Given the description of an element on the screen output the (x, y) to click on. 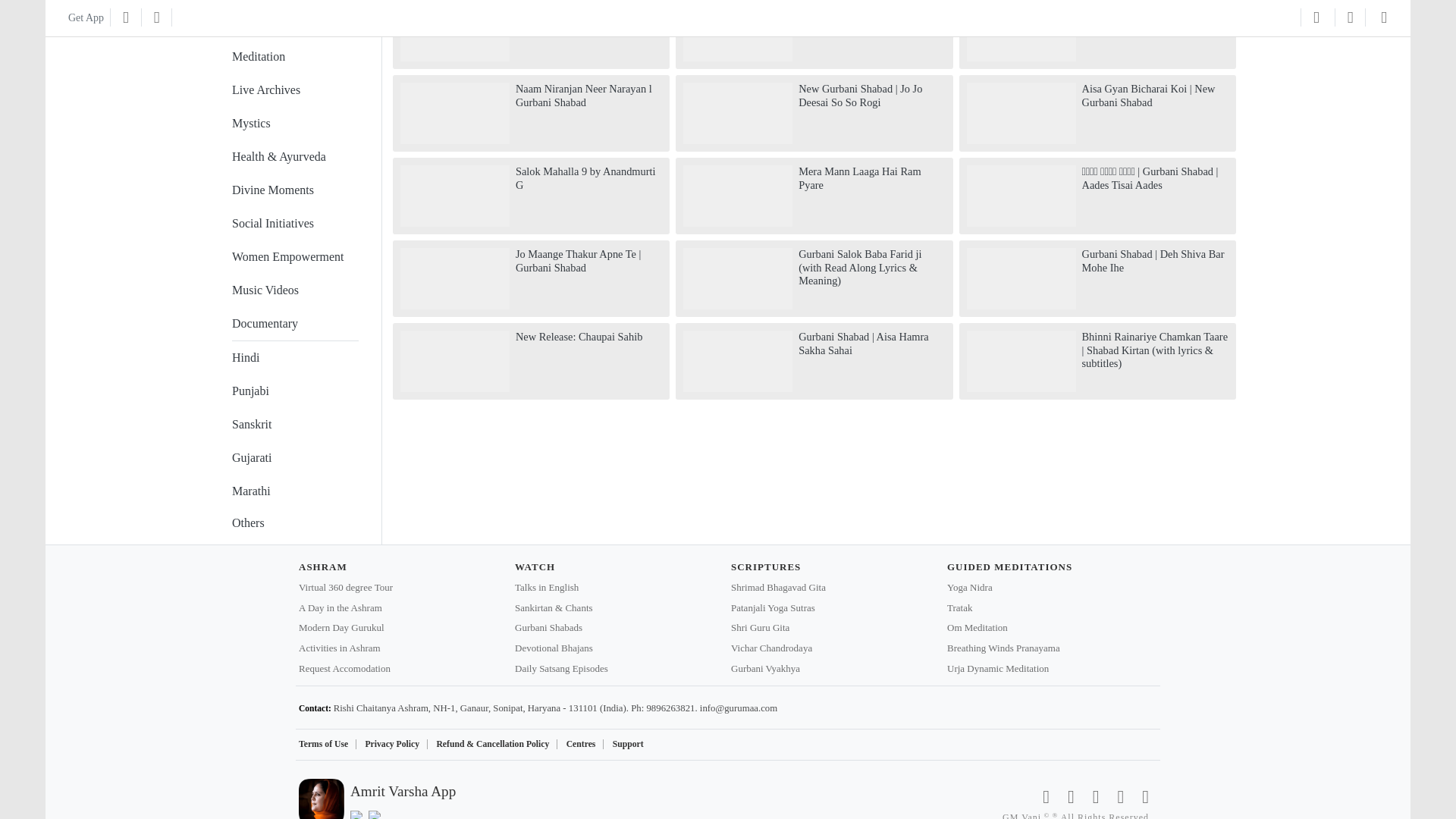
76 videos (294, 90)
13 videos (294, 256)
99 videos (294, 56)
103 videos (294, 20)
47 videos (294, 156)
38 videos (294, 190)
51 videos (294, 123)
16 videos (294, 223)
